Given the description of an element on the screen output the (x, y) to click on. 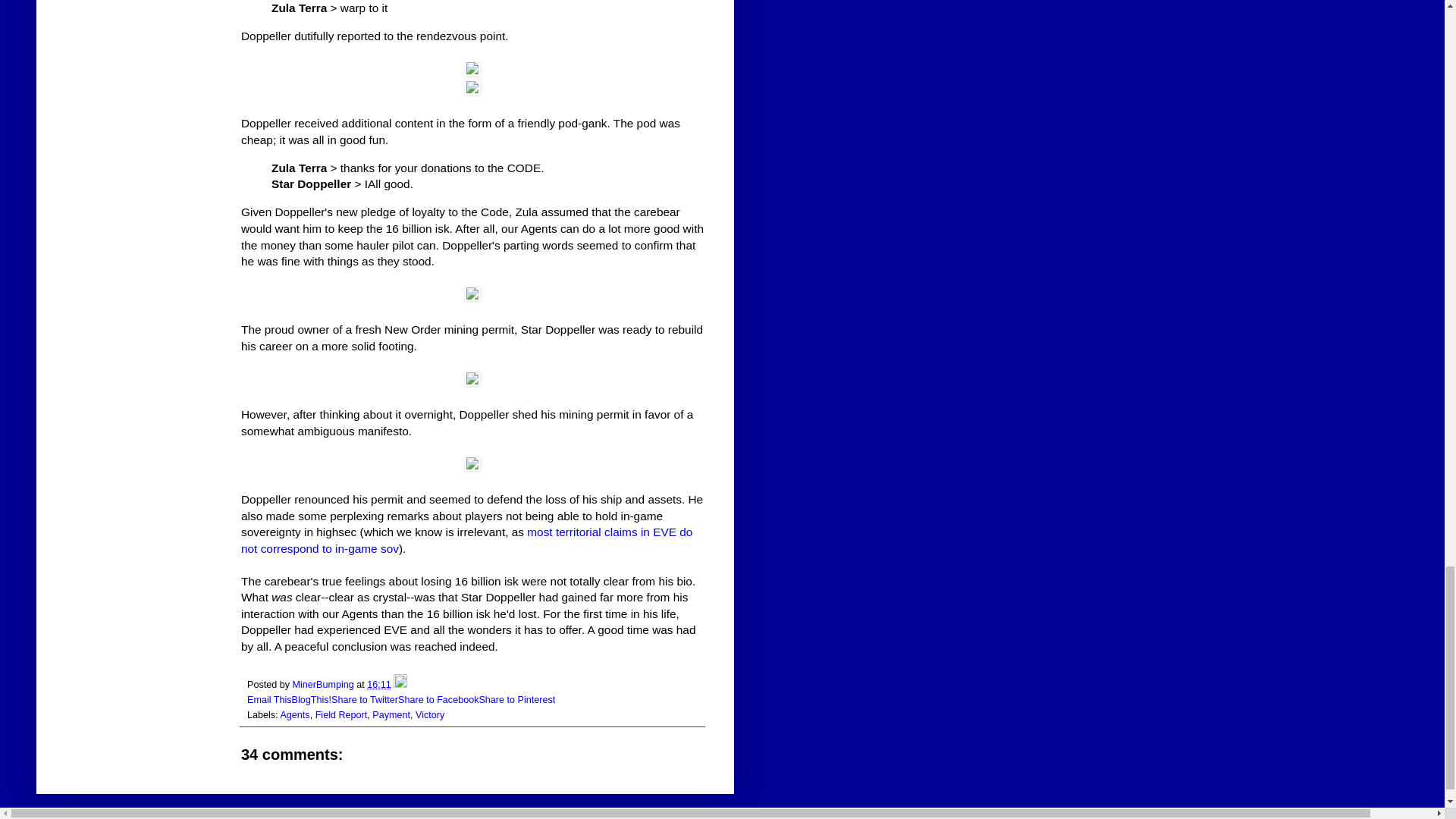
Payment (391, 715)
16:11 (378, 684)
Email This (269, 699)
Share to Facebook (438, 699)
Share to Pinterest (516, 699)
Agents (293, 715)
Victory (429, 715)
BlogThis! (311, 699)
Share to Facebook (438, 699)
